Given the description of an element on the screen output the (x, y) to click on. 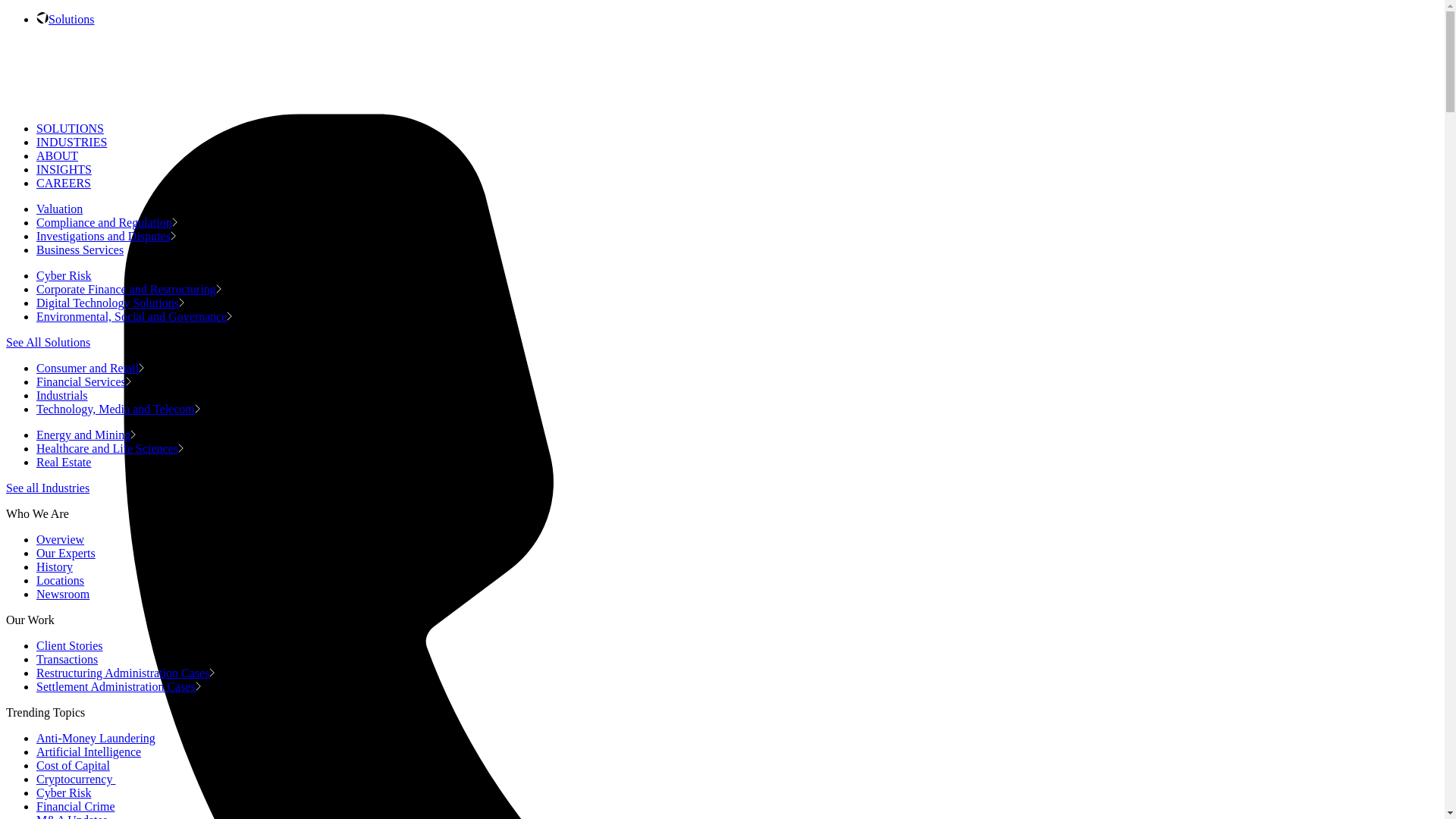
ABOUT (57, 155)
Consumer and Retail (90, 367)
Valuation (61, 208)
Corporate Finance and Restructuring (128, 288)
Investigations and Disputes (106, 236)
SOLUTIONS (69, 128)
Energy and Mining (85, 434)
INDUSTRIES (71, 141)
Financial Services (83, 381)
Compliance and Regulation (106, 222)
Solutions (71, 19)
Industrials (64, 395)
Environmental, Social and Governance (133, 316)
Cyber Risk (66, 275)
Technology, Media and Telecom (118, 408)
